Given the description of an element on the screen output the (x, y) to click on. 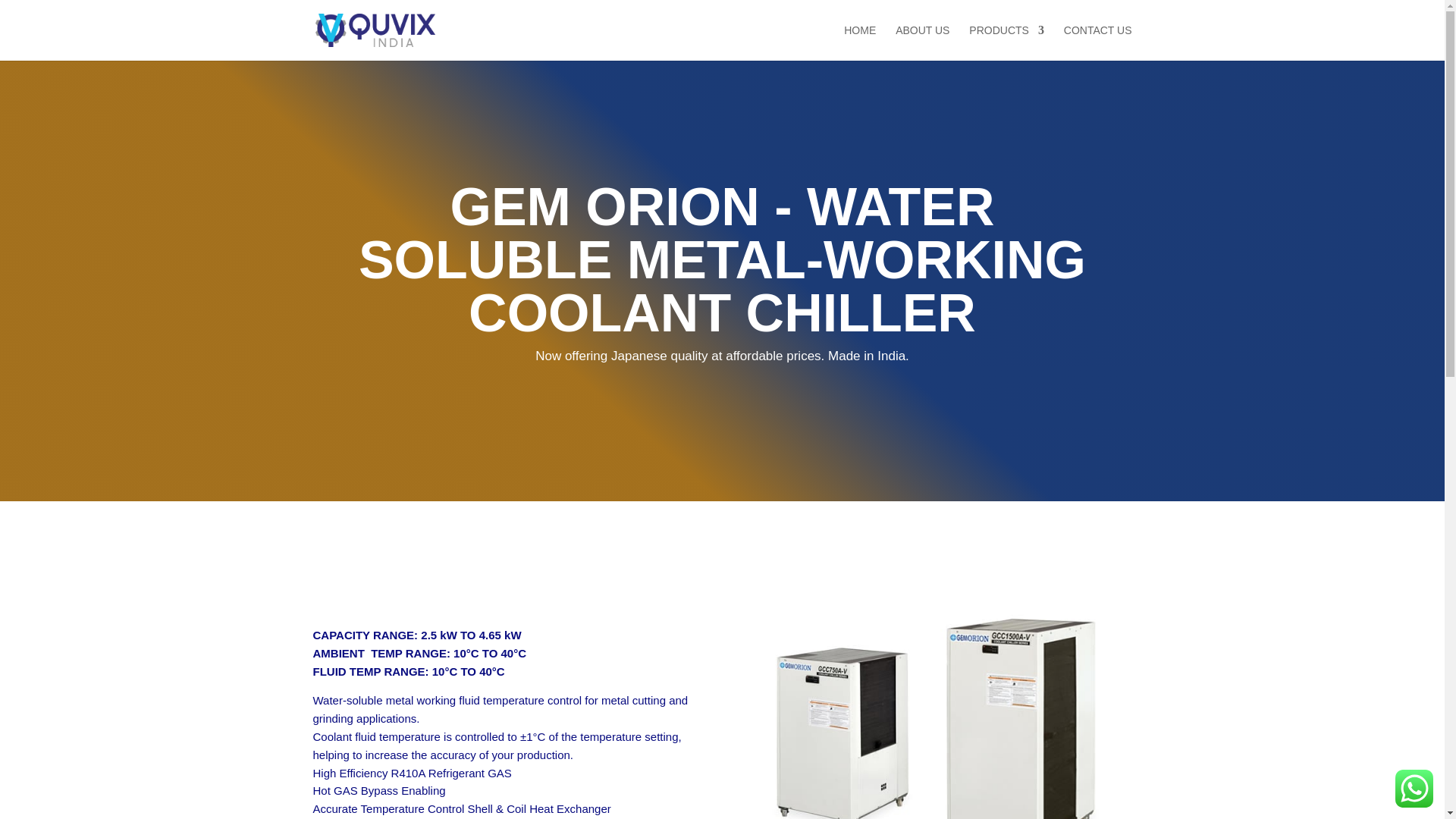
HOME (860, 42)
PRODUCTS (1006, 42)
ABOUT US (922, 42)
CONTACT US (1098, 42)
Gemorion Coolent Chiller-min (937, 683)
